Given the description of an element on the screen output the (x, y) to click on. 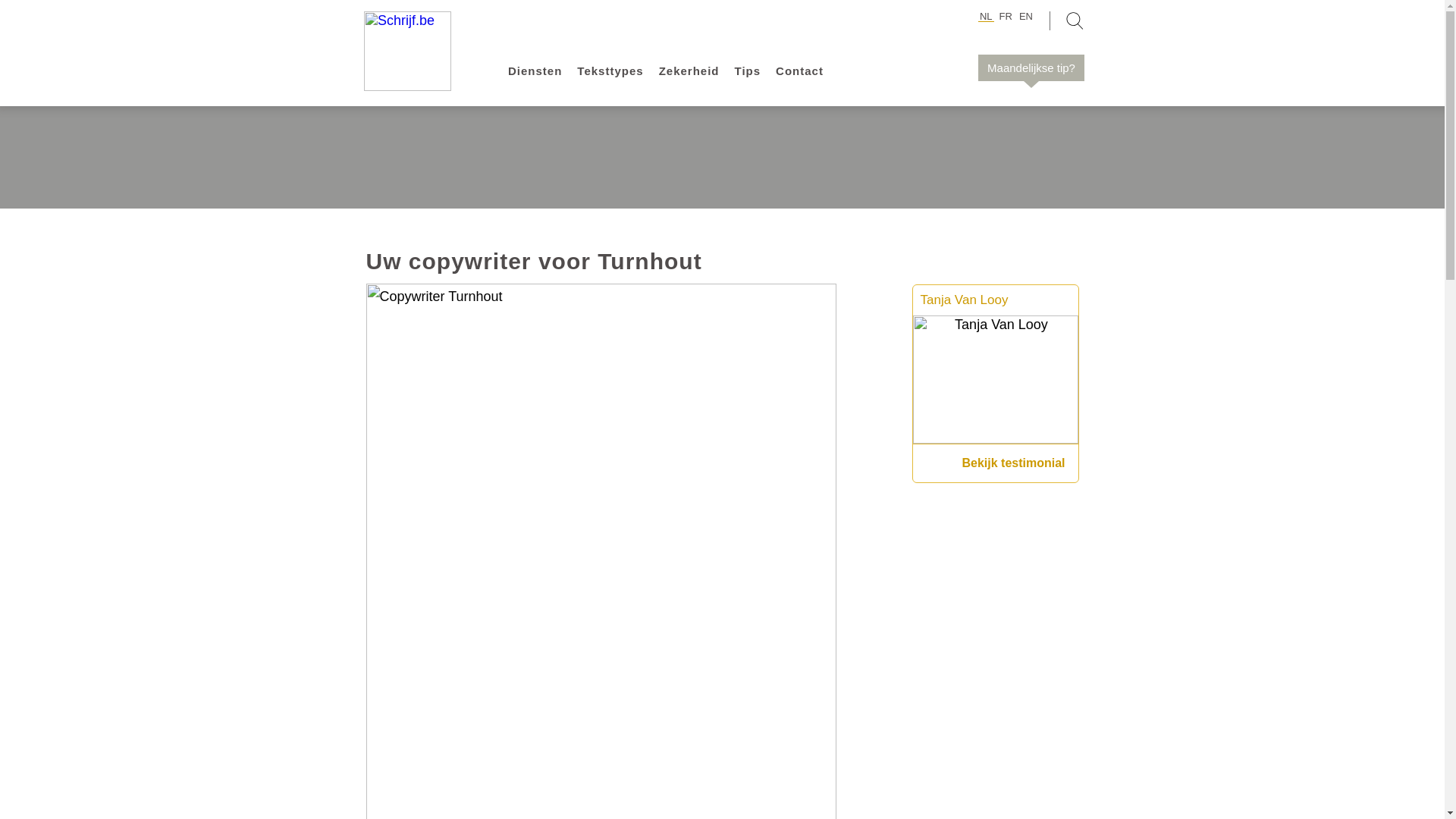
Tips Element type: text (748, 71)
EN Element type: text (1025, 16)
Tanja Van Looy Element type: text (964, 299)
Teksttypes Element type: text (609, 71)
Diensten Element type: text (534, 71)
NL Element type: text (986, 16)
Contact Element type: text (799, 71)
Zekerheid Element type: text (689, 71)
Bekijk testimonial Element type: text (1012, 462)
FR Element type: text (1005, 16)
Abonneer u Element type: text (958, 220)
